Given the description of an element on the screen output the (x, y) to click on. 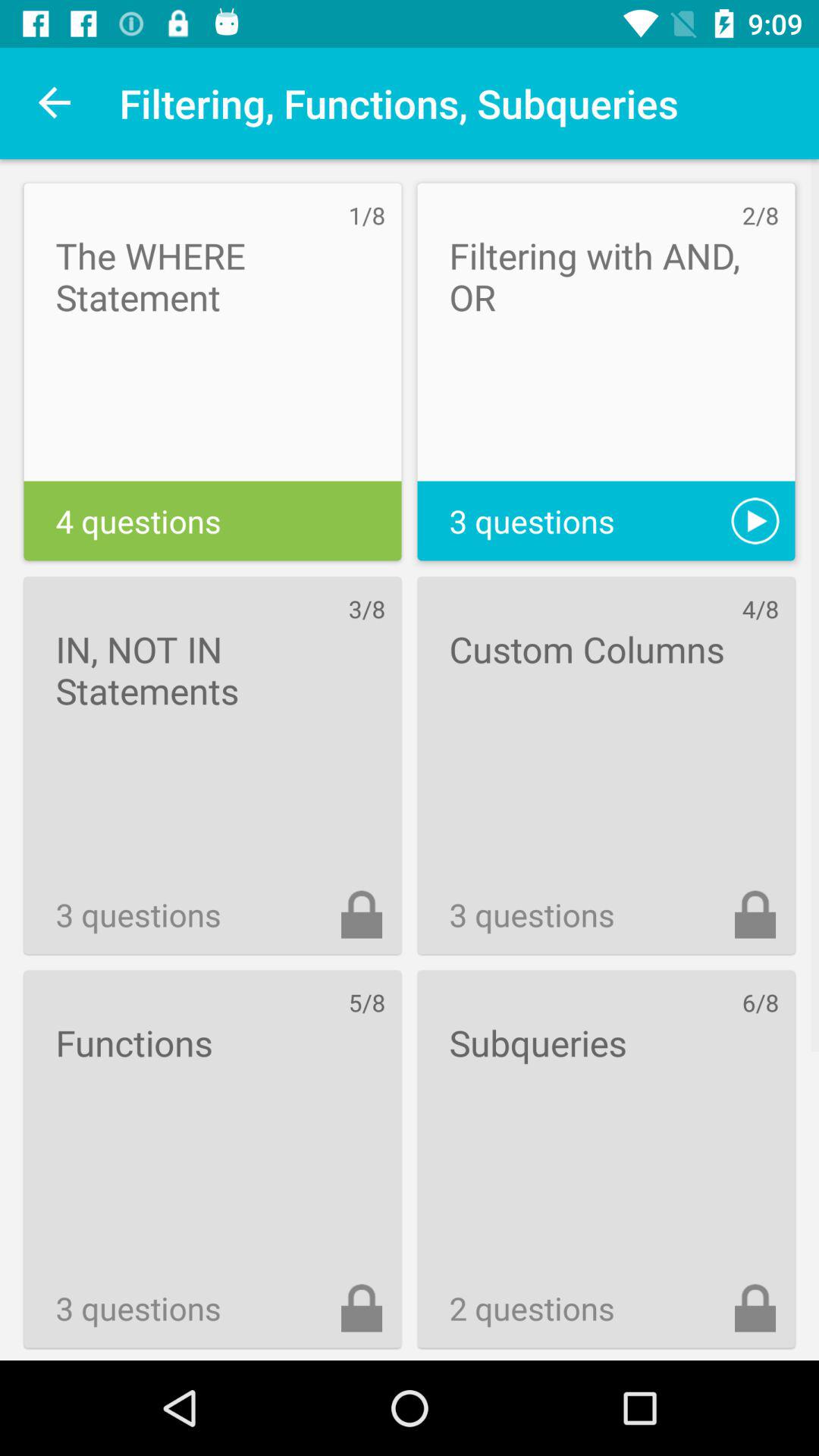
click icon above the where statement icon (55, 103)
